Given the description of an element on the screen output the (x, y) to click on. 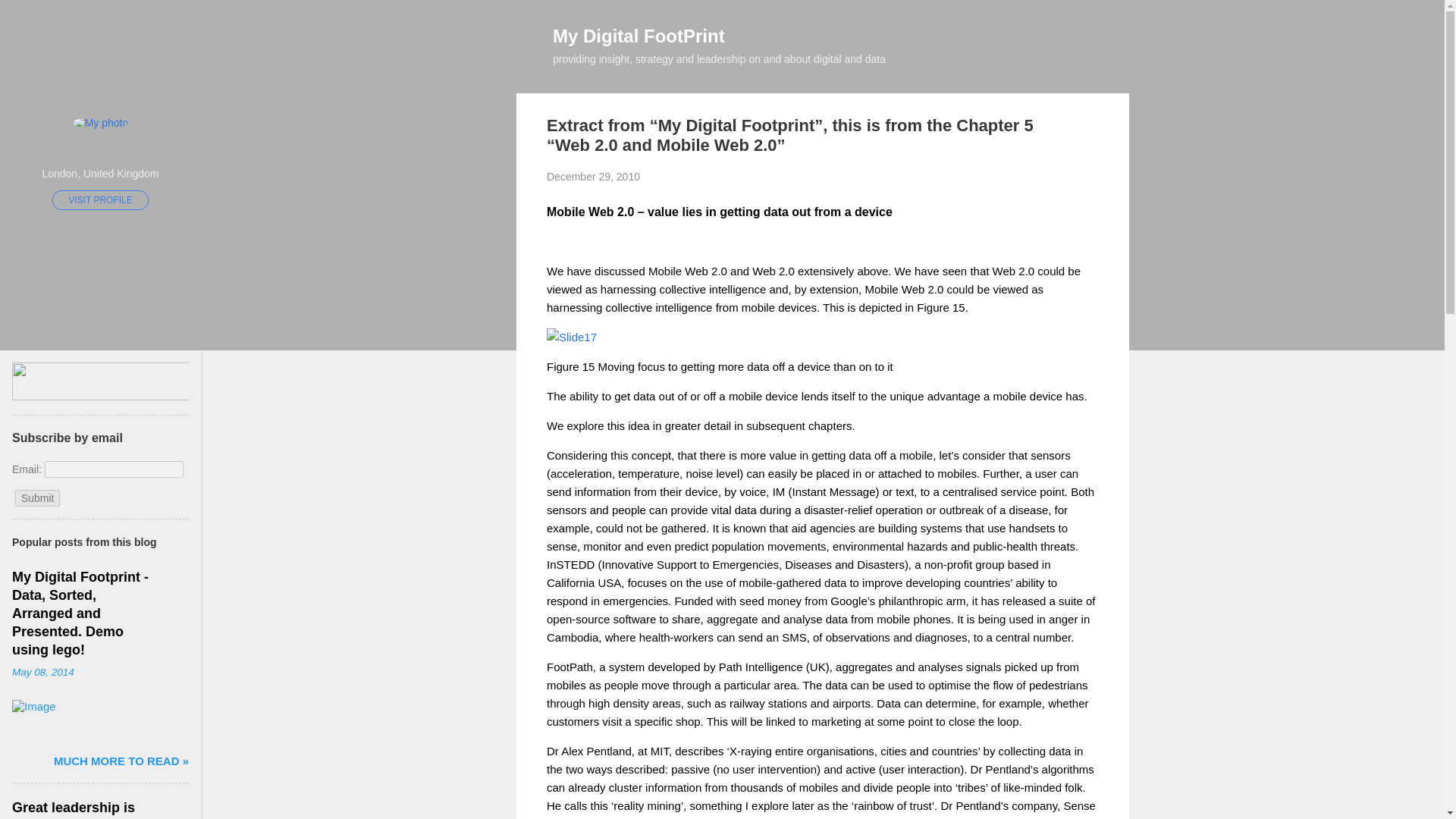
December 29, 2010 (593, 176)
permanent link (593, 176)
permanent link (42, 672)
Search (28, 18)
Submit (37, 497)
May 08, 2014 (42, 672)
My Digital FootPrint (639, 35)
VISIT PROFILE (100, 199)
Submit (37, 497)
